Given the description of an element on the screen output the (x, y) to click on. 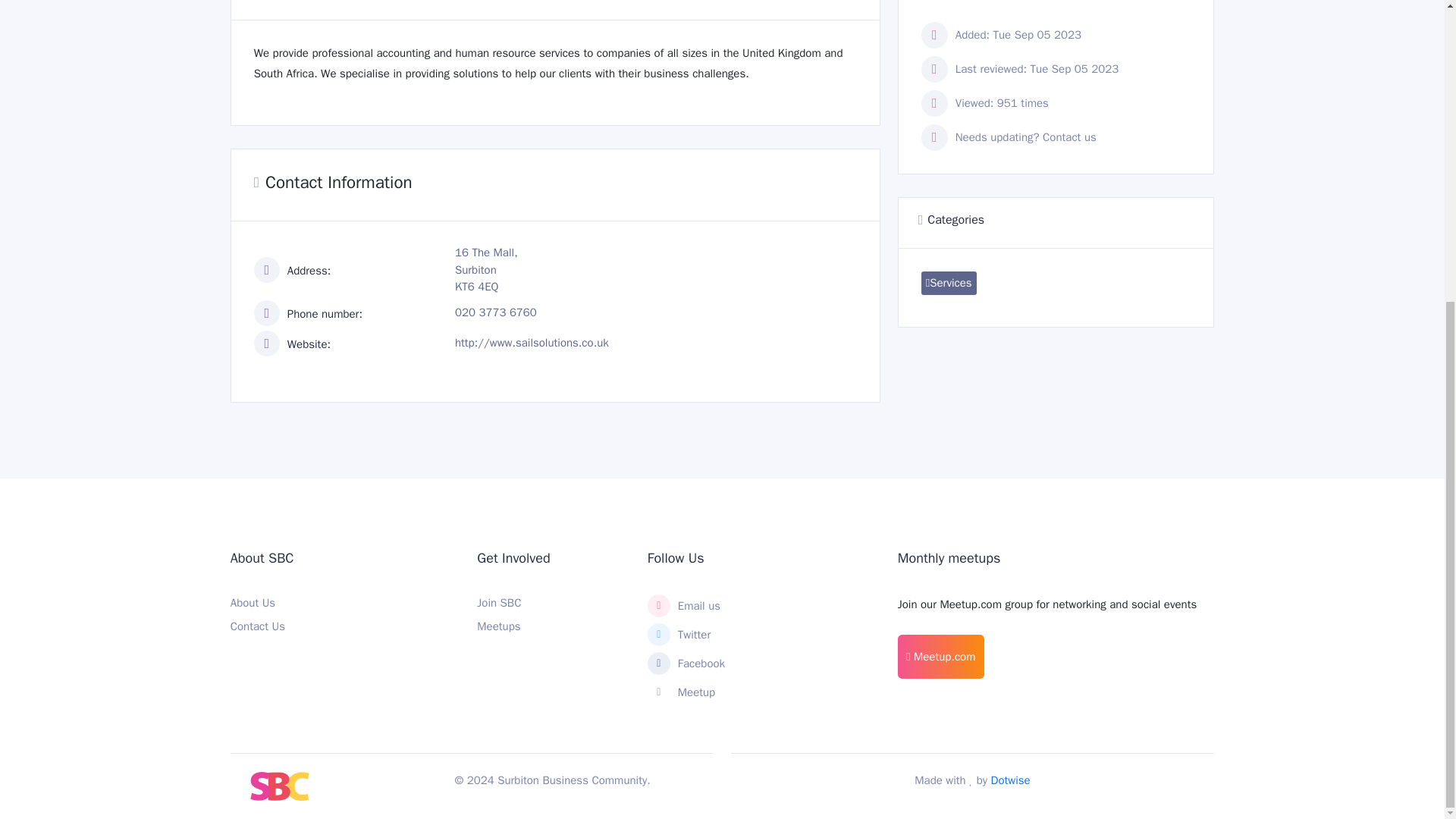
Services (948, 282)
Meetups (498, 626)
Meetup (763, 691)
Contact Us (257, 626)
Join SBC (499, 602)
Facebook (763, 662)
Dotwise (1010, 780)
Needs updating? Contact us (1025, 137)
About Us (252, 602)
Twitter (763, 634)
